Given the description of an element on the screen output the (x, y) to click on. 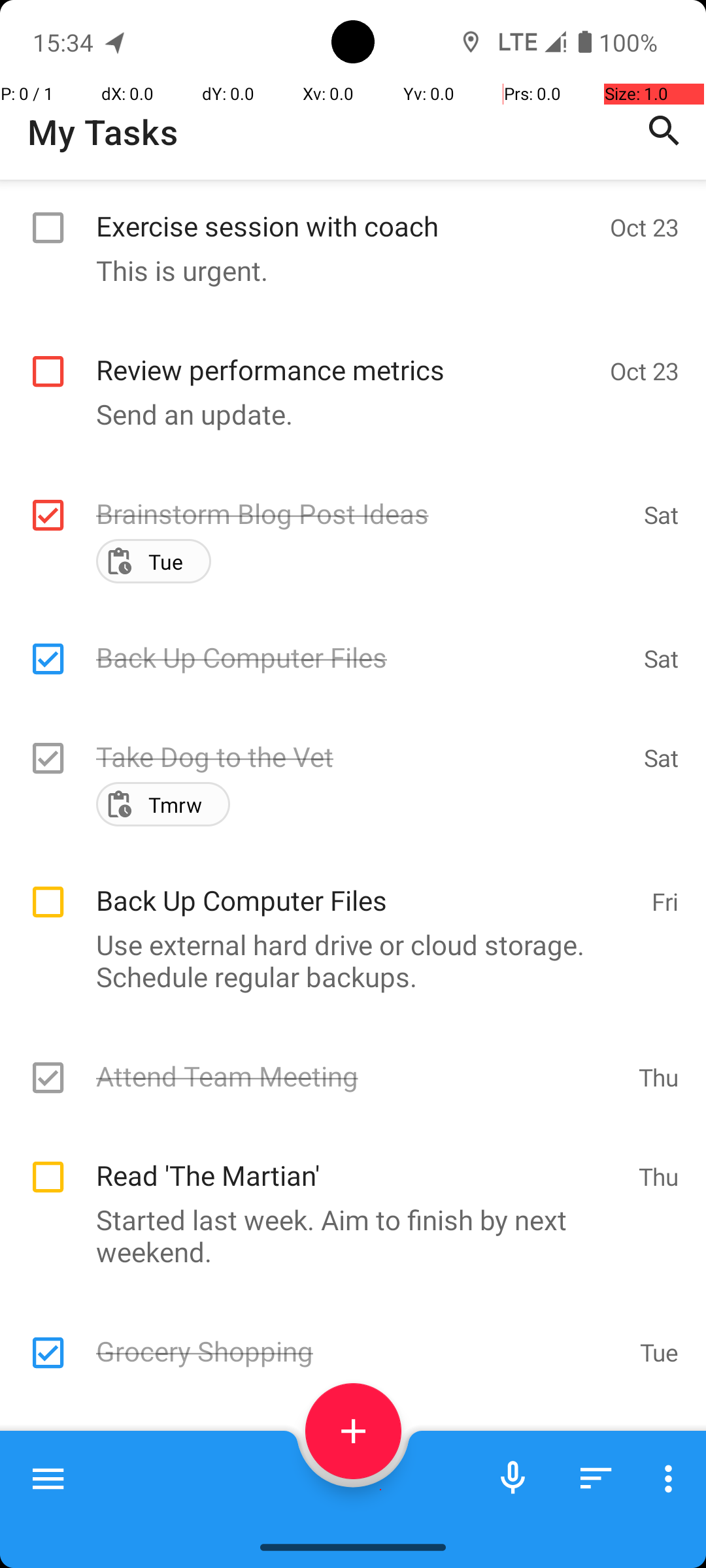
Exercise session with coach Element type: android.widget.TextView (346, 211)
This is urgent. Element type: android.widget.TextView (346, 269)
Oct 23 Element type: android.widget.TextView (644, 226)
Review performance metrics Element type: android.widget.TextView (346, 355)
Send an update. Element type: android.widget.TextView (346, 413)
Use external hard drive or cloud storage. Schedule regular backups. Element type: android.widget.TextView (346, 960)
